Given the description of an element on the screen output the (x, y) to click on. 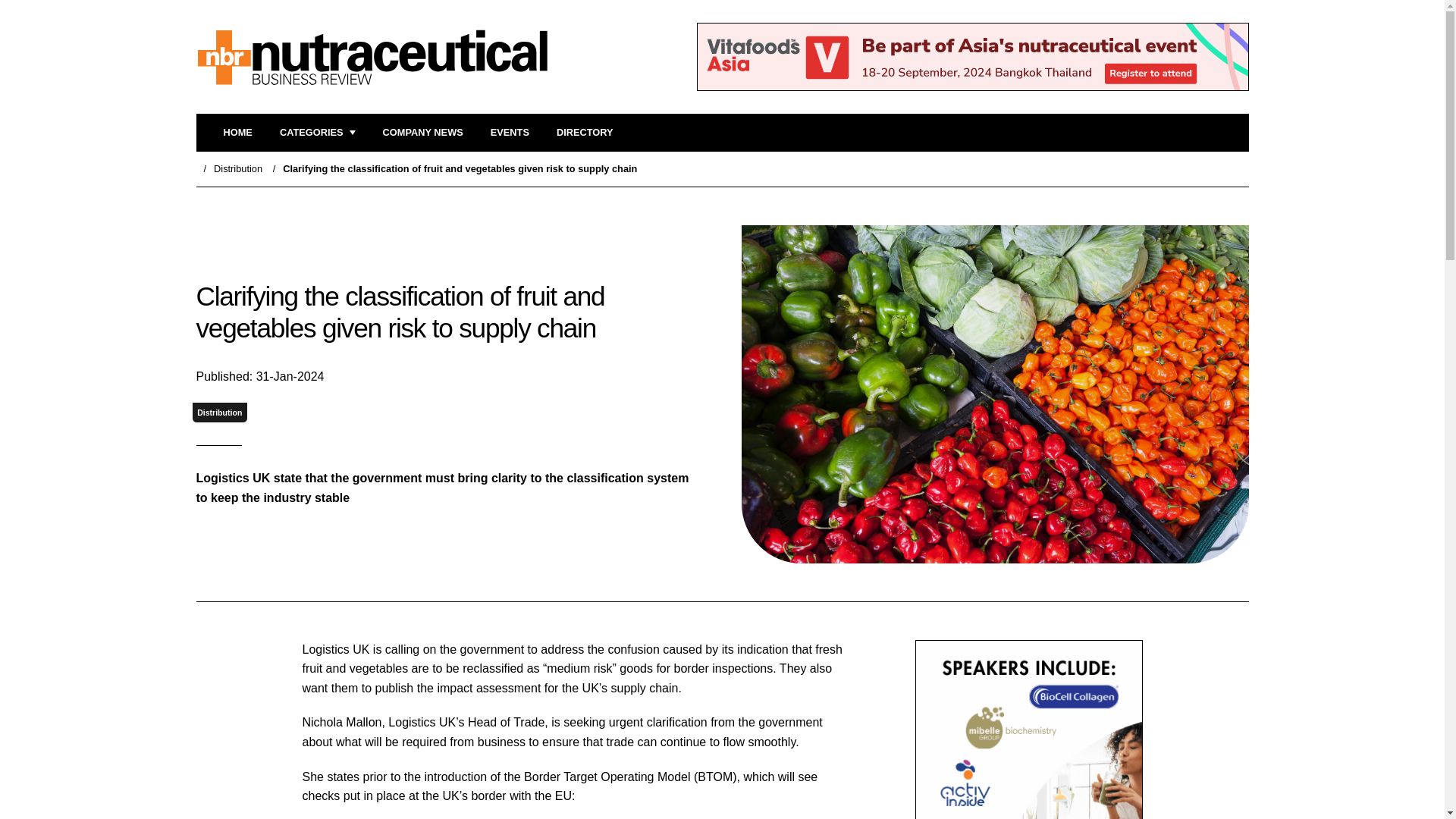
EVENTS (509, 133)
HOME (236, 133)
Distribution (238, 168)
Directory (584, 133)
COMPANY NEWS (422, 133)
CATEGORIES (317, 133)
DIRECTORY (584, 133)
Distribution (219, 412)
